Given the description of an element on the screen output the (x, y) to click on. 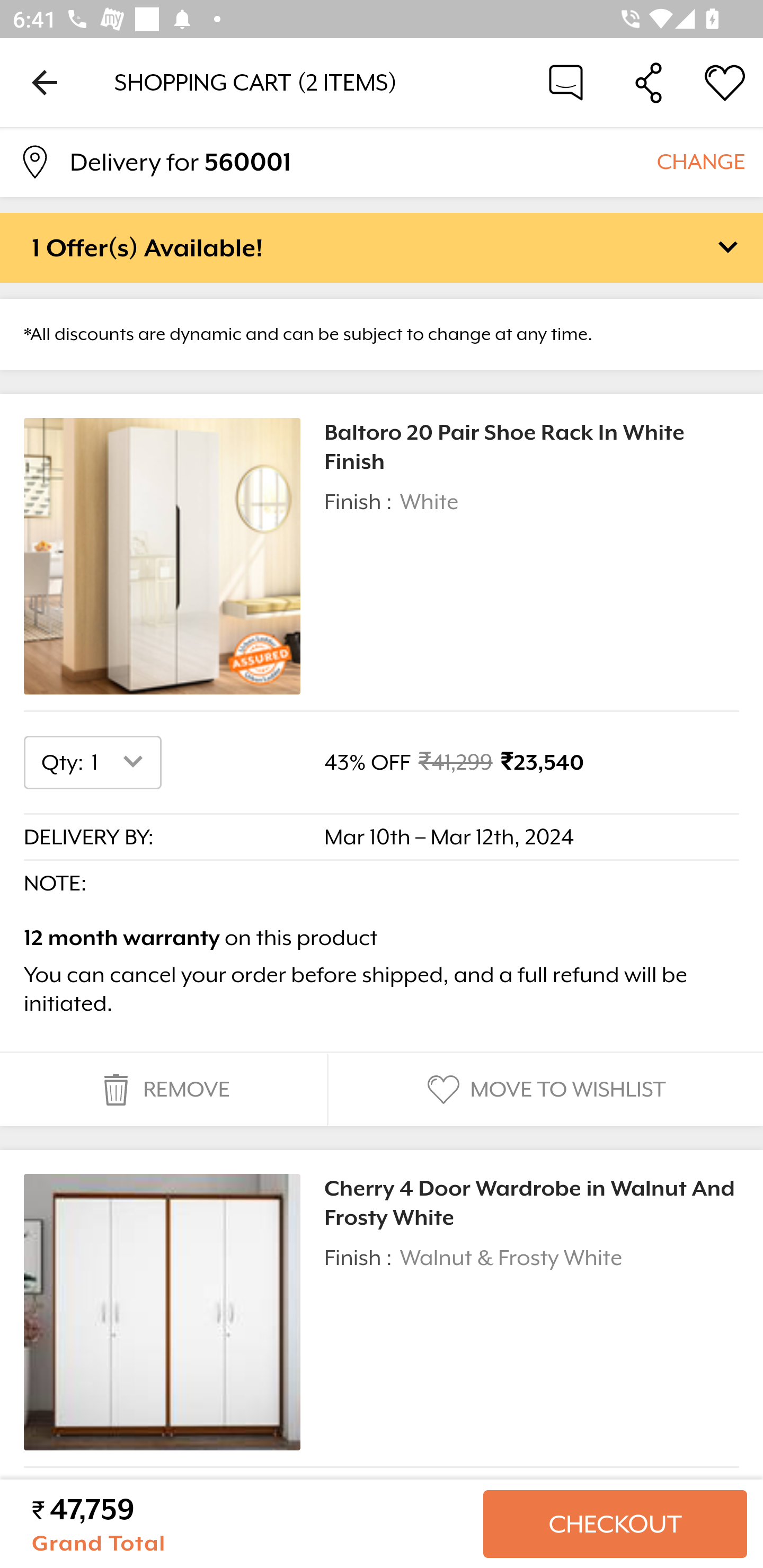
Navigate up (44, 82)
Chat (565, 81)
Share Cart (648, 81)
Wishlist (724, 81)
CHANGE (700, 161)
1 Offer(s) Available! (381, 247)
1 (121, 761)
REMOVE (163, 1089)
MOVE TO WISHLIST (544, 1089)
₹ 47,759 Grand Total (250, 1523)
CHECKOUT (614, 1523)
